Given the description of an element on the screen output the (x, y) to click on. 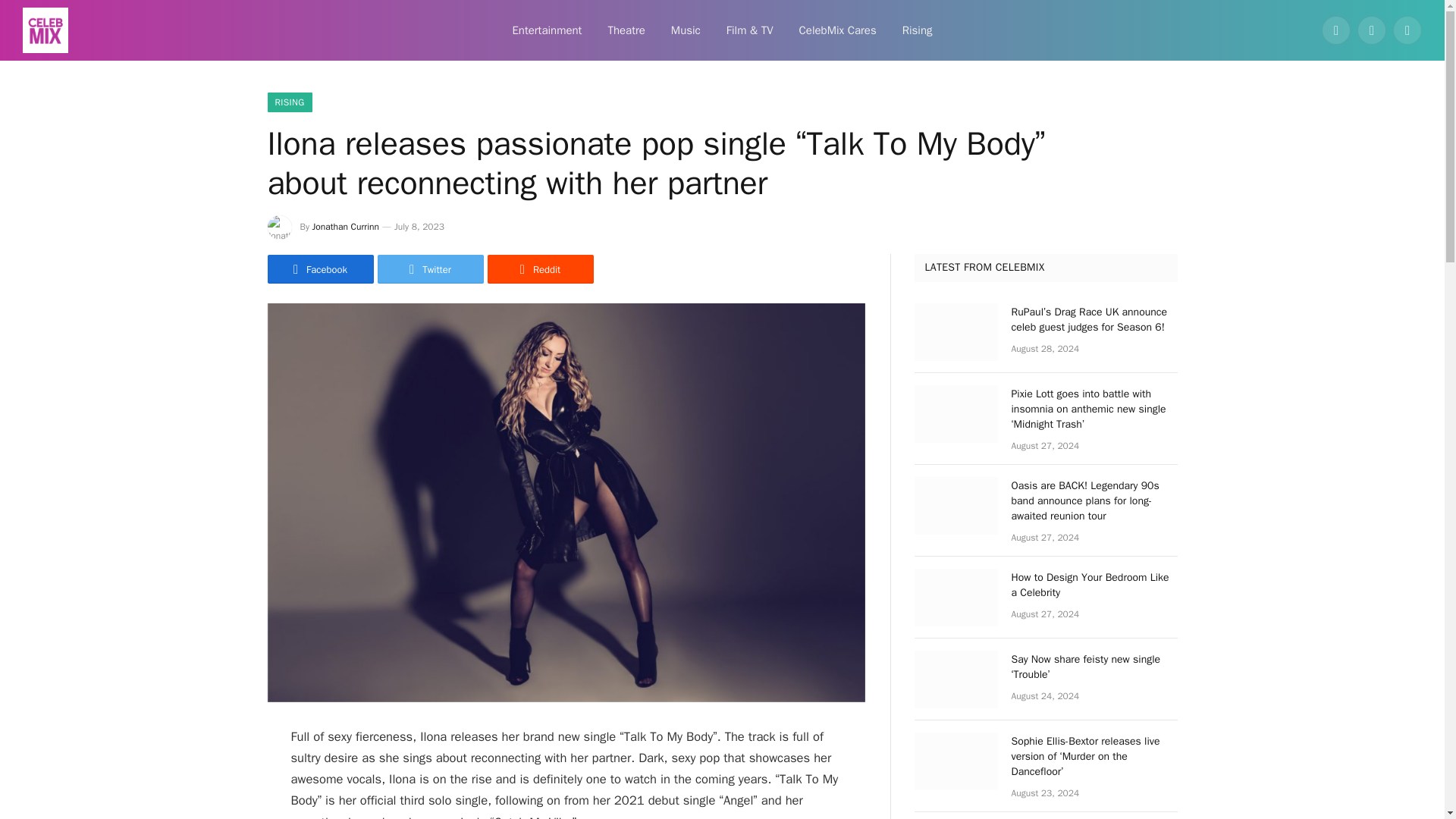
Twitter (430, 268)
Music (685, 30)
CelebMix Cares (837, 30)
Reddit (539, 268)
Facebook (319, 268)
Jonathan Currinn (345, 226)
Theatre (626, 30)
Share on Facebook (319, 268)
Instagram (1407, 30)
Entertainment (546, 30)
